Given the description of an element on the screen output the (x, y) to click on. 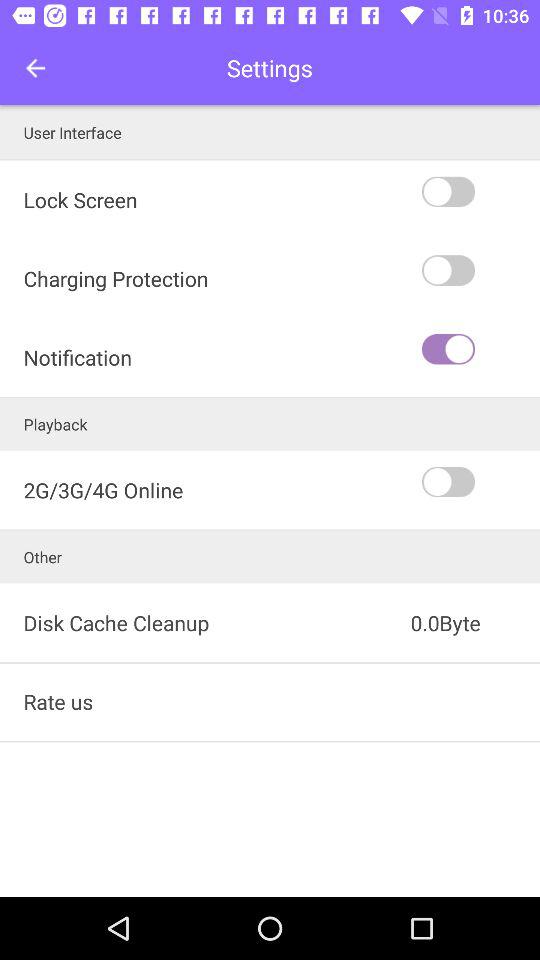
turn off item to the right of the 2g 3g 4g (479, 481)
